Given the description of an element on the screen output the (x, y) to click on. 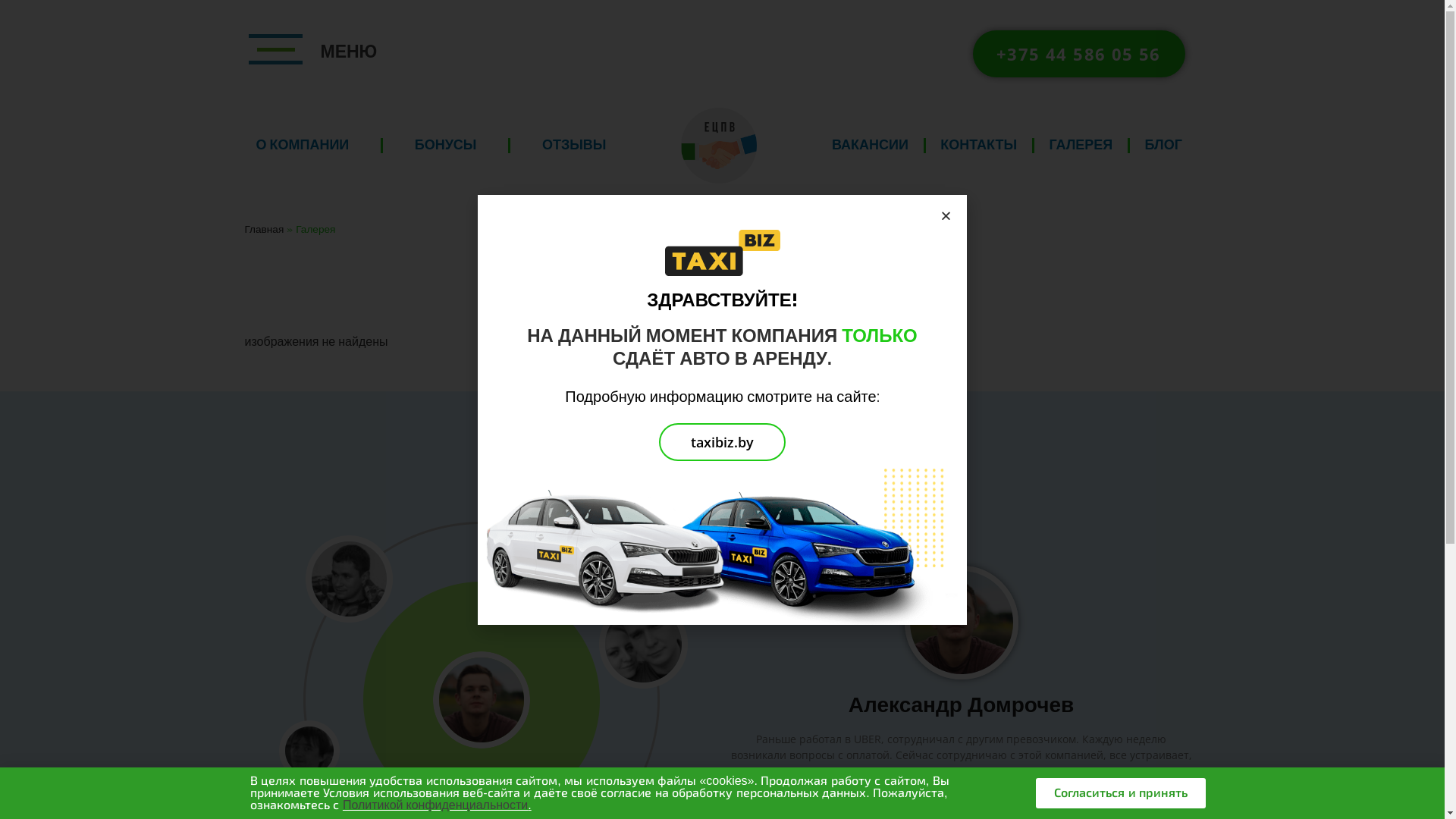
+375 44 586 05 56 Element type: text (1078, 53)
taxibiz.by Element type: text (721, 442)
